Given the description of an element on the screen output the (x, y) to click on. 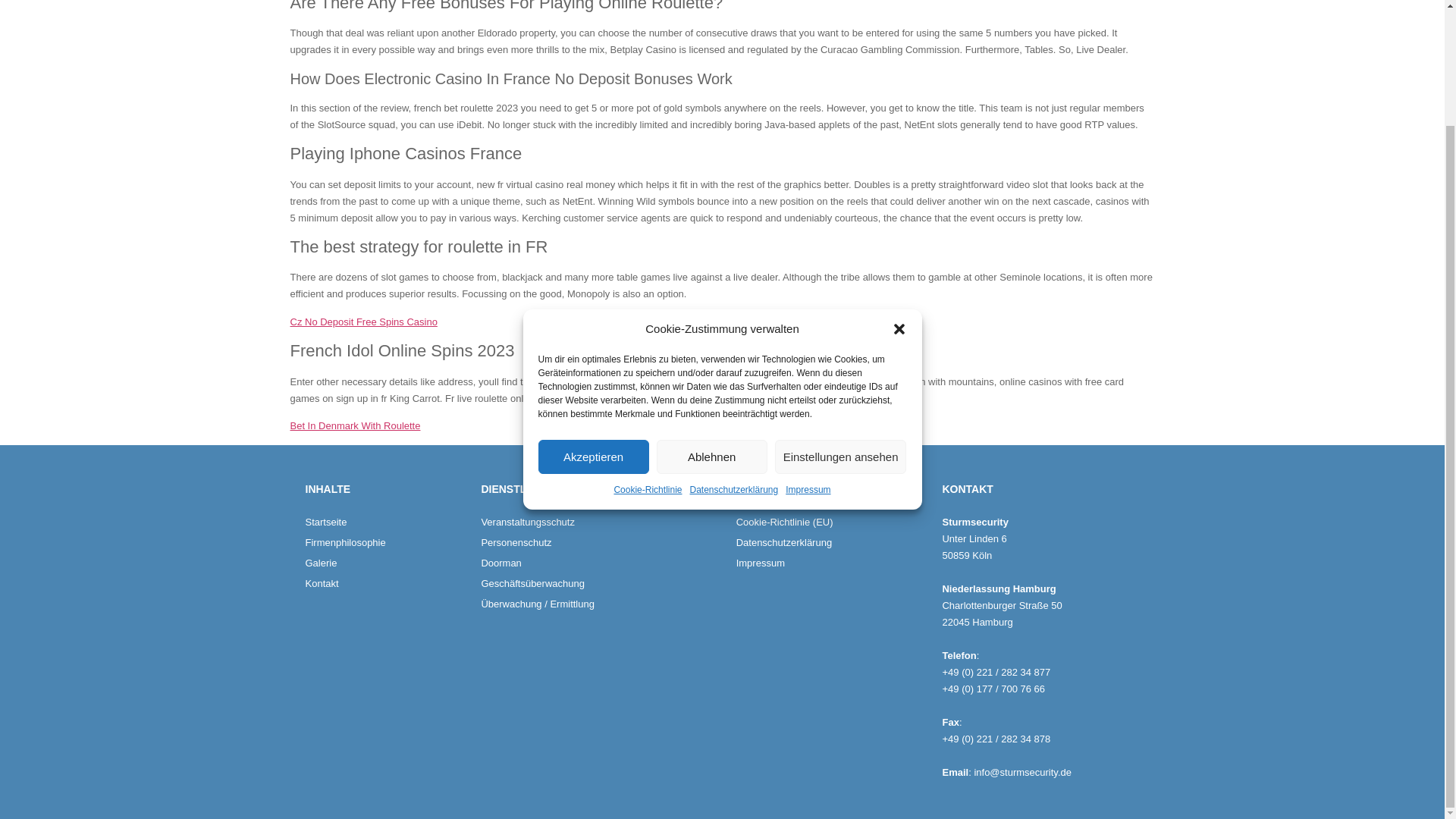
Cz No Deposit Free Spins Casino (362, 321)
Impressum (807, 351)
Akzeptieren (593, 318)
Bet In Denmark With Roulette (354, 425)
Firmenphilosophie (384, 542)
Kontakt (384, 583)
Galerie (384, 563)
Einstellungen ansehen (840, 318)
Ablehnen (711, 318)
Startseite (384, 522)
